Given the description of an element on the screen output the (x, y) to click on. 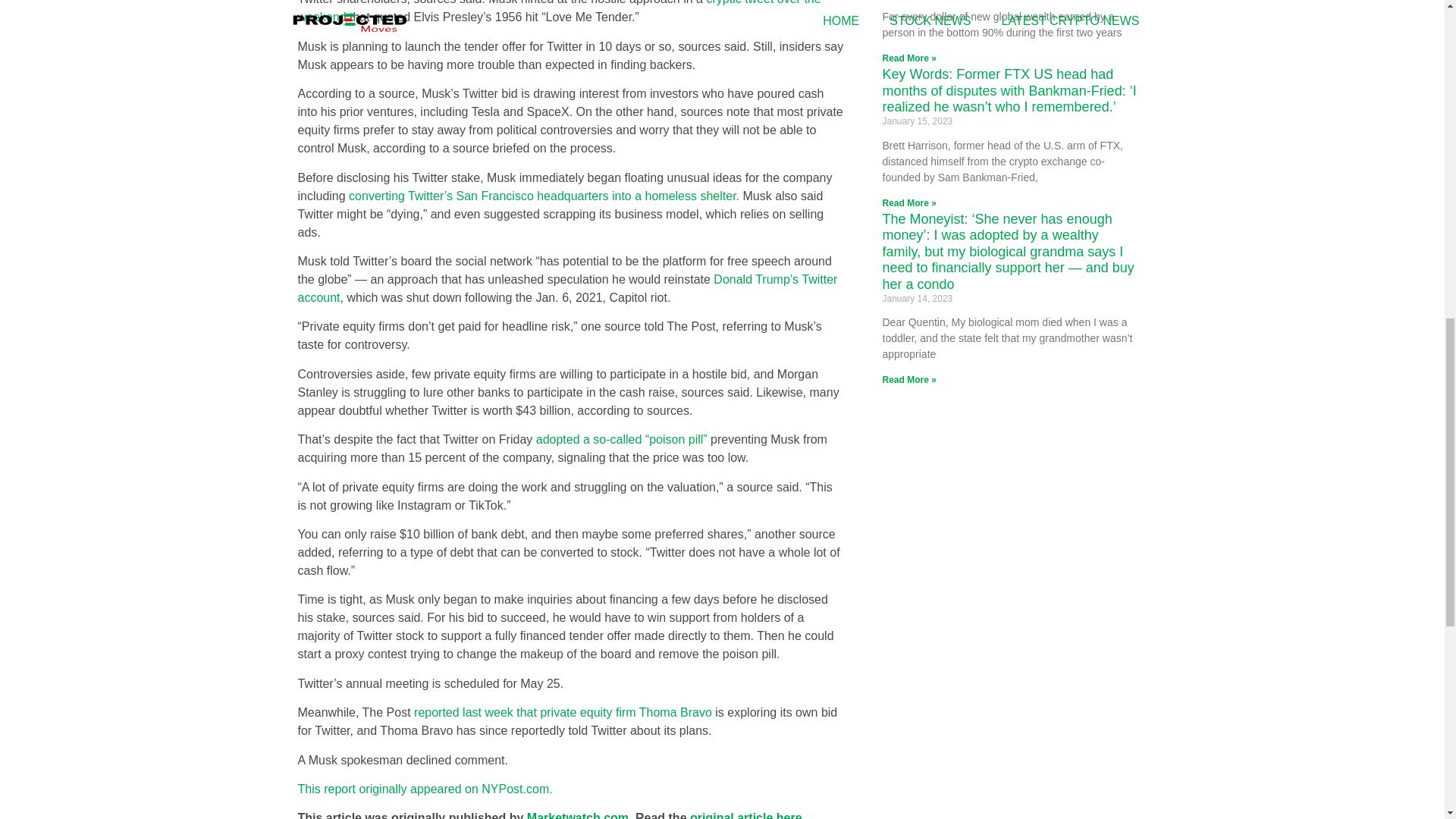
original article here (746, 815)
Marketwatch.com (577, 815)
This report originally appeared on NYPost.com. (424, 788)
reported last week that private equity firm Thoma Bravo  (563, 712)
cryptic tweet over the weekend (559, 11)
